Given the description of an element on the screen output the (x, y) to click on. 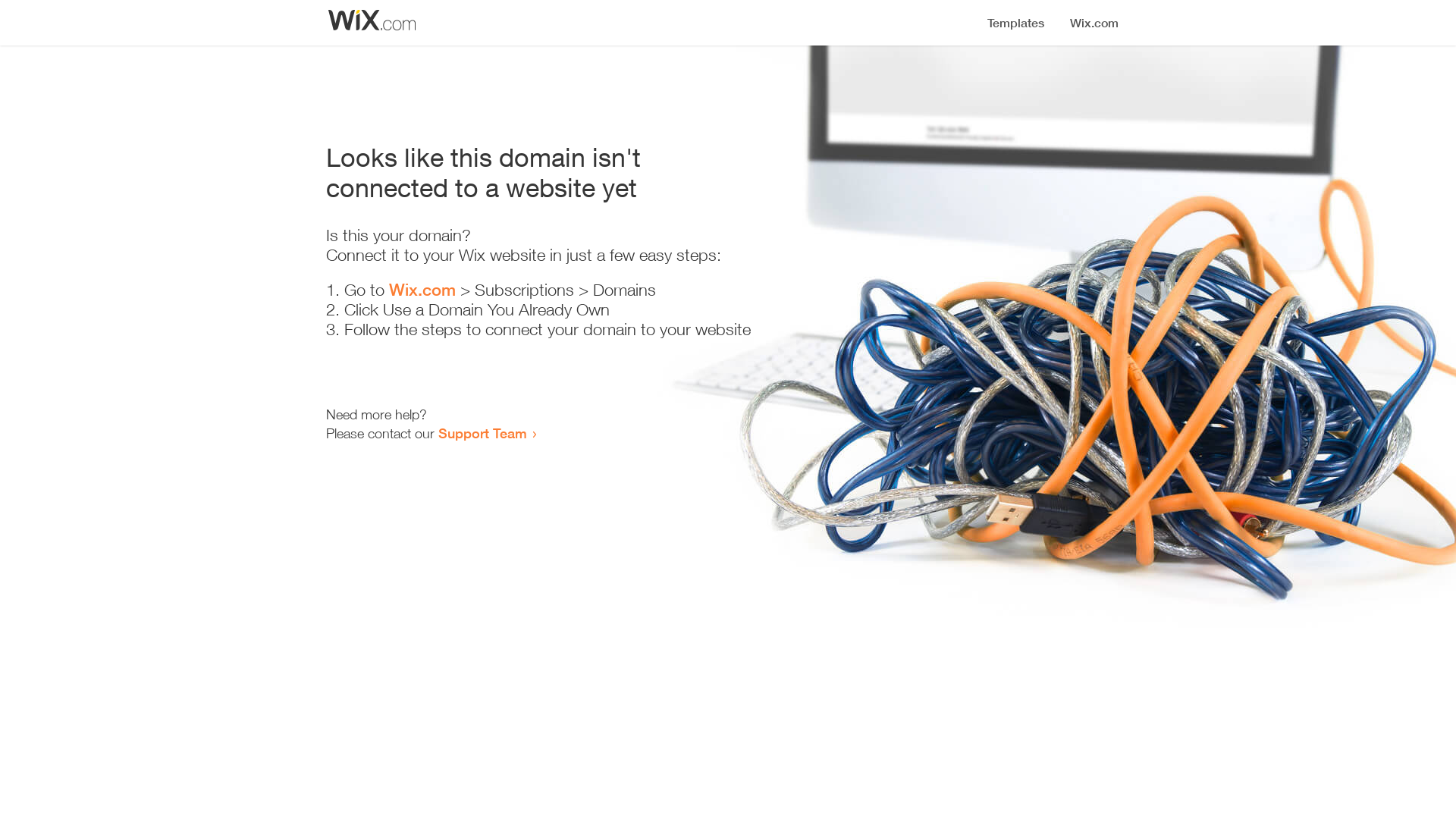
Support Team Element type: text (482, 432)
Wix.com Element type: text (422, 289)
